Given the description of an element on the screen output the (x, y) to click on. 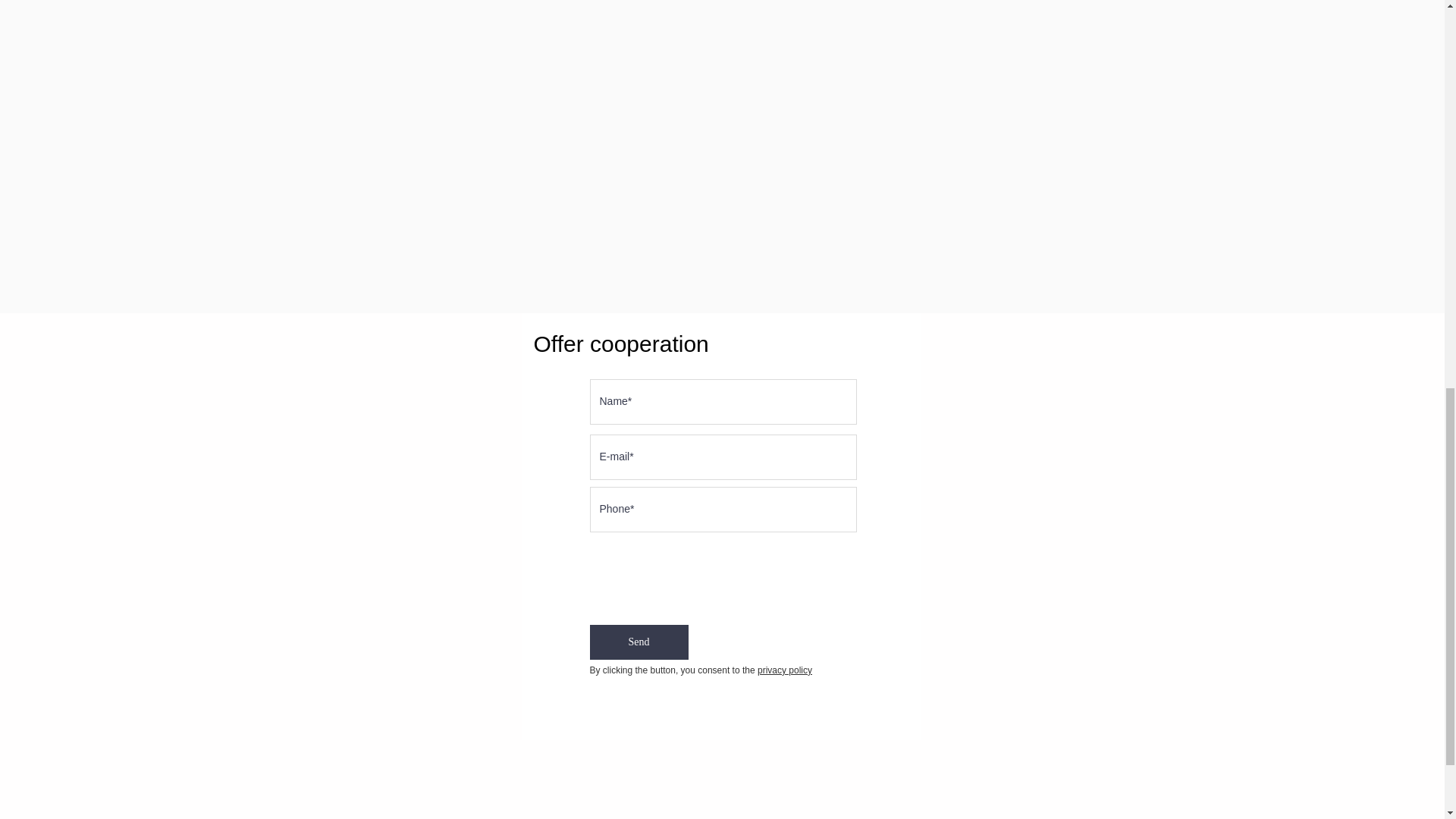
privacy policy (784, 670)
Send (638, 642)
